Given the description of an element on the screen output the (x, y) to click on. 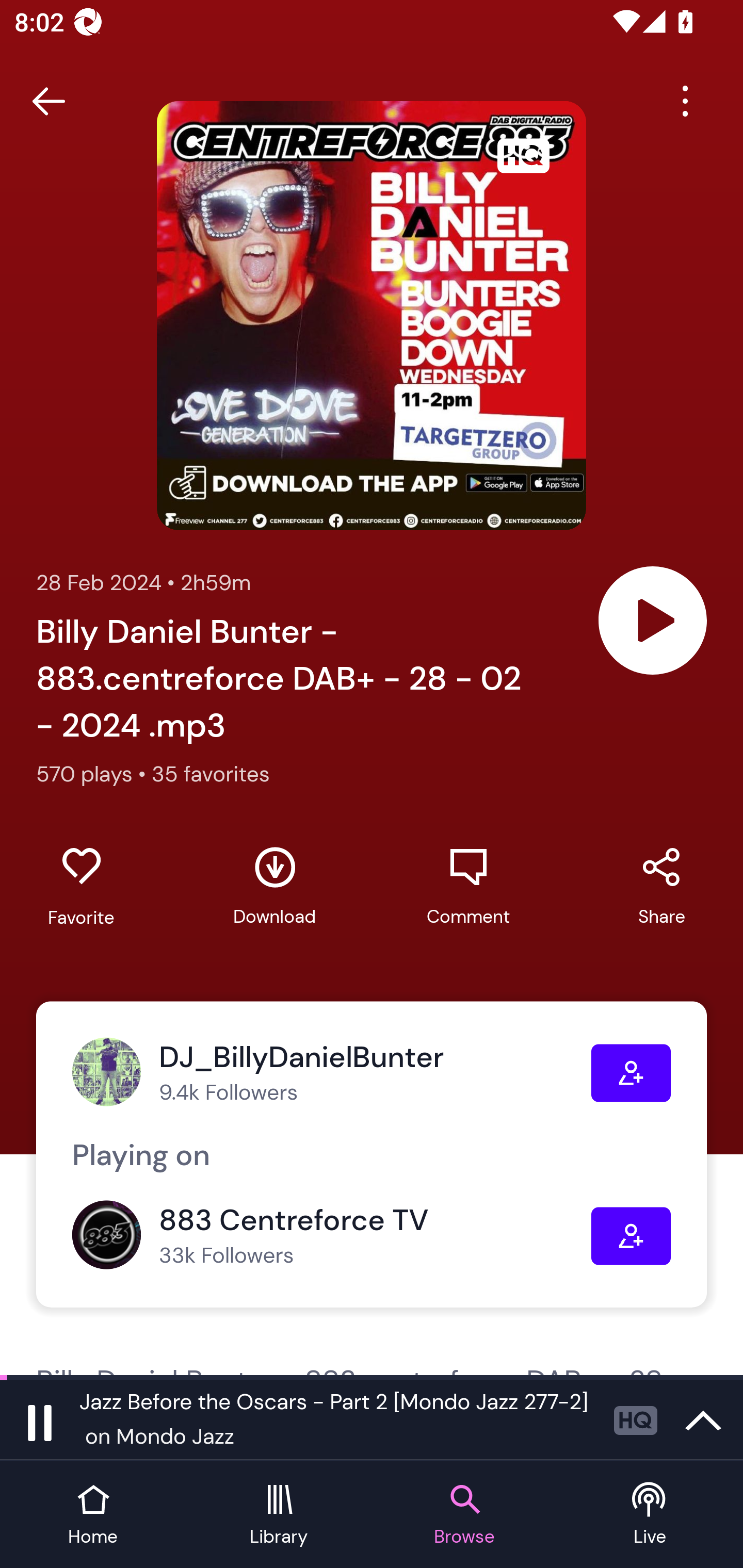
35 favorites (210, 773)
Favorite (81, 886)
Download (274, 886)
Comment (467, 886)
Share (661, 886)
Follow (630, 1073)
Follow (630, 1236)
Home tab Home (92, 1515)
Library tab Library (278, 1515)
Browse tab Browse (464, 1515)
Live tab Live (650, 1515)
